Given the description of an element on the screen output the (x, y) to click on. 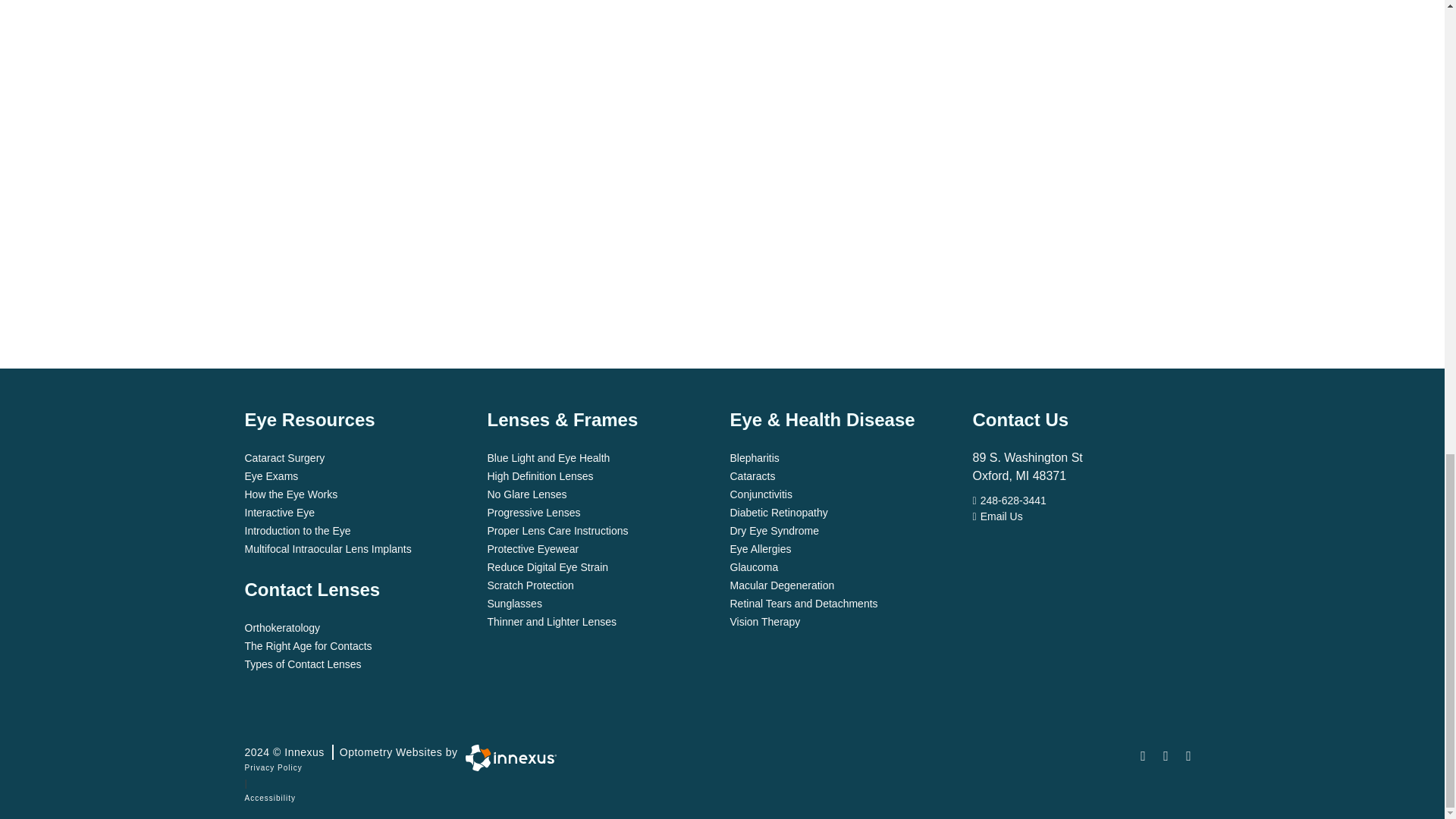
Innexus Website Social and Marketing (510, 757)
Innexus (507, 757)
Innexus (350, 752)
